Given the description of an element on the screen output the (x, y) to click on. 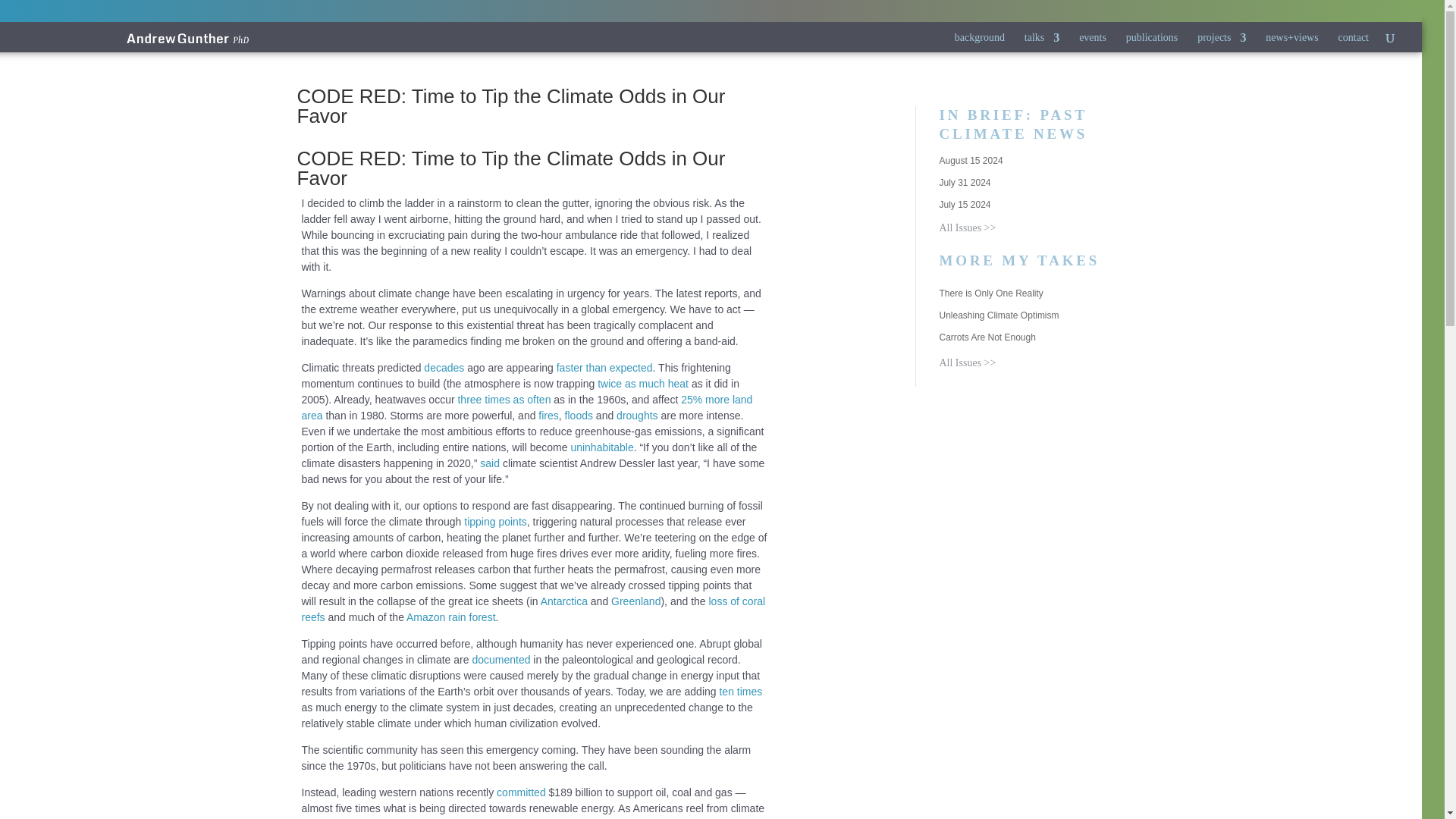
loss of coral reefs (533, 609)
floods (578, 415)
Antarctica (564, 601)
committed (521, 792)
publications (1151, 43)
twice as much heat (642, 383)
fires (547, 415)
projects (1221, 43)
droughts (636, 415)
Greenland (636, 601)
